Given the description of an element on the screen output the (x, y) to click on. 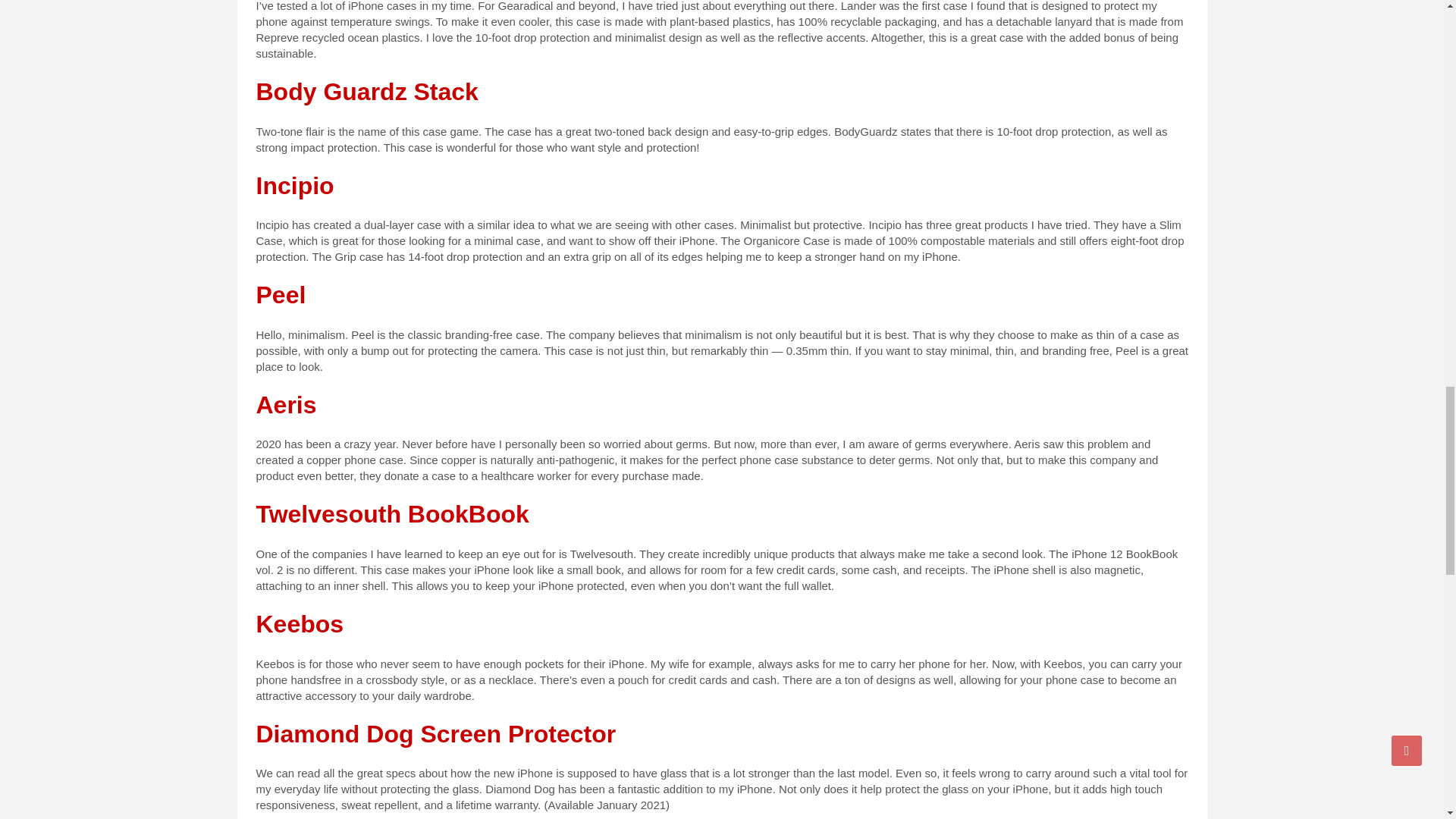
Twelvesouth BookBook (392, 513)
Aeris (286, 404)
Diamond Dog Screen Protector (435, 733)
Body Guardz Stack (367, 91)
Peel (280, 294)
Incipio (295, 185)
Keebos (299, 624)
